Given the description of an element on the screen output the (x, y) to click on. 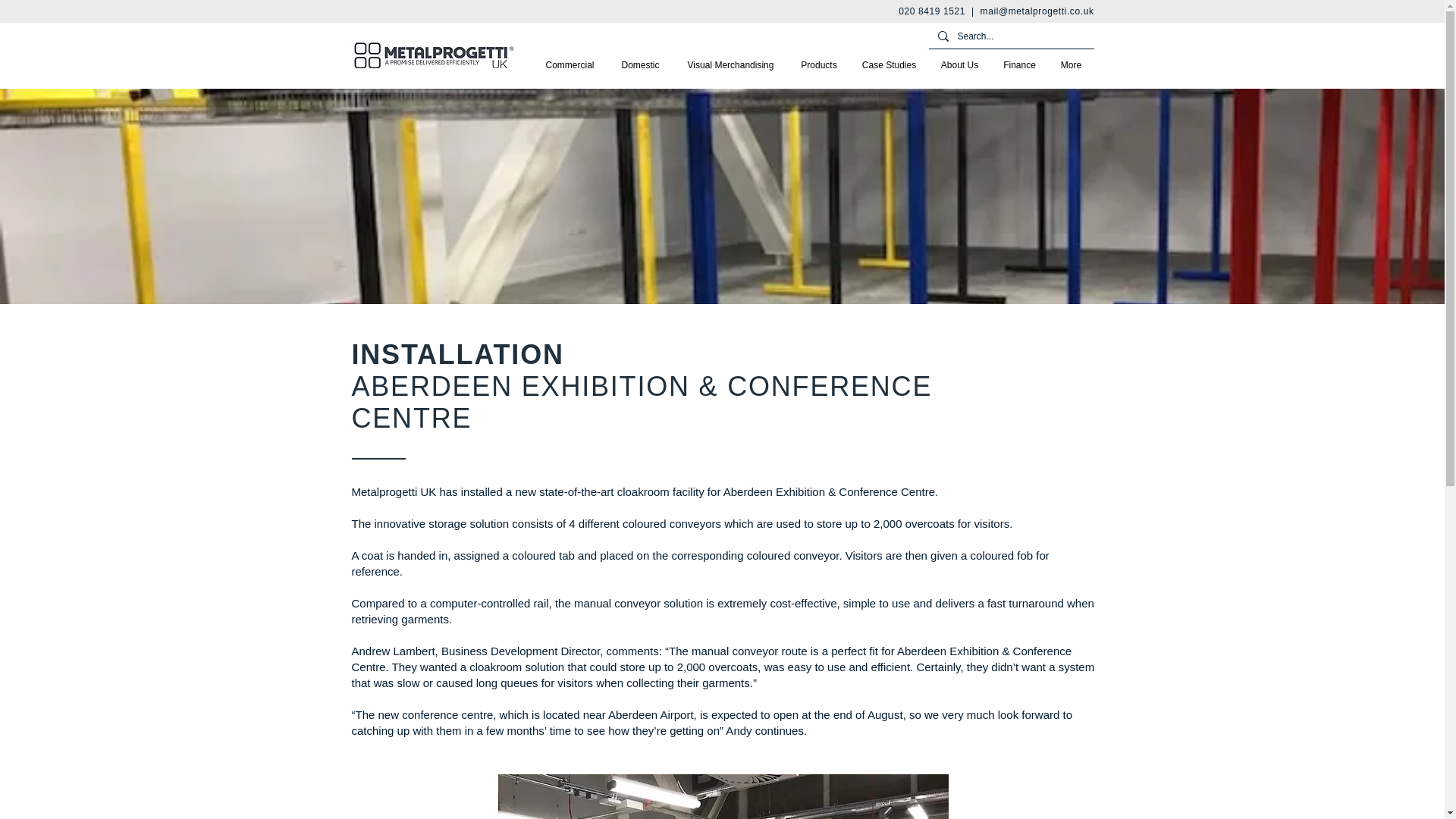
Finance (1019, 65)
Visual Merchandising (730, 65)
About Us (959, 65)
Case Studies (888, 65)
